Given the description of an element on the screen output the (x, y) to click on. 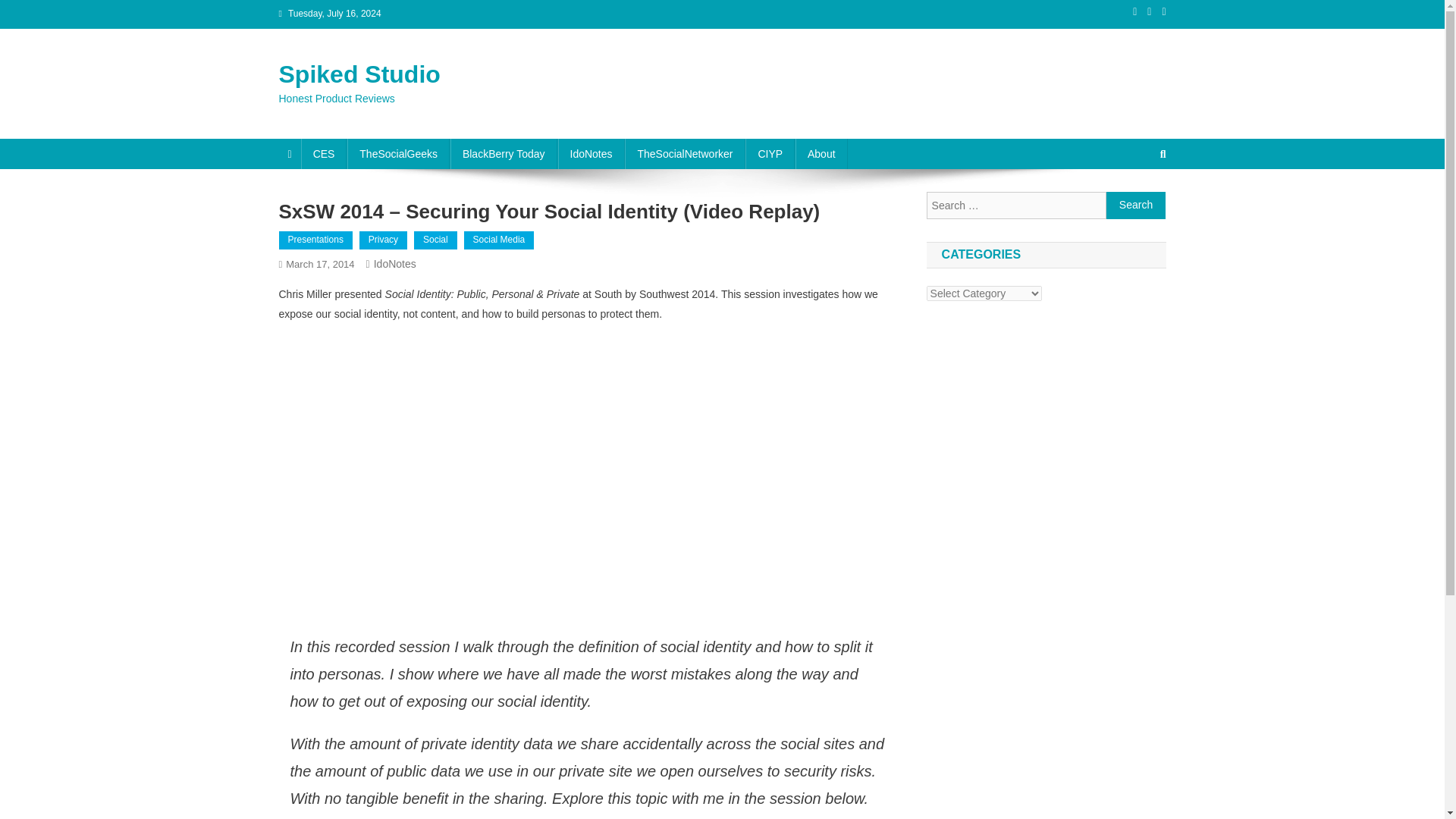
CES (324, 153)
March 17, 2014 (319, 264)
Privacy (383, 239)
IdoNotes (590, 153)
CIYP (769, 153)
Spiked Studio (360, 73)
Search (1133, 204)
TheSocialNetworker (684, 153)
Social Media (499, 239)
TheSocialGeeks (398, 153)
Search (1136, 205)
BlackBerry Today (503, 153)
Social (435, 239)
Presentations (315, 239)
Search (1136, 205)
